Given the description of an element on the screen output the (x, y) to click on. 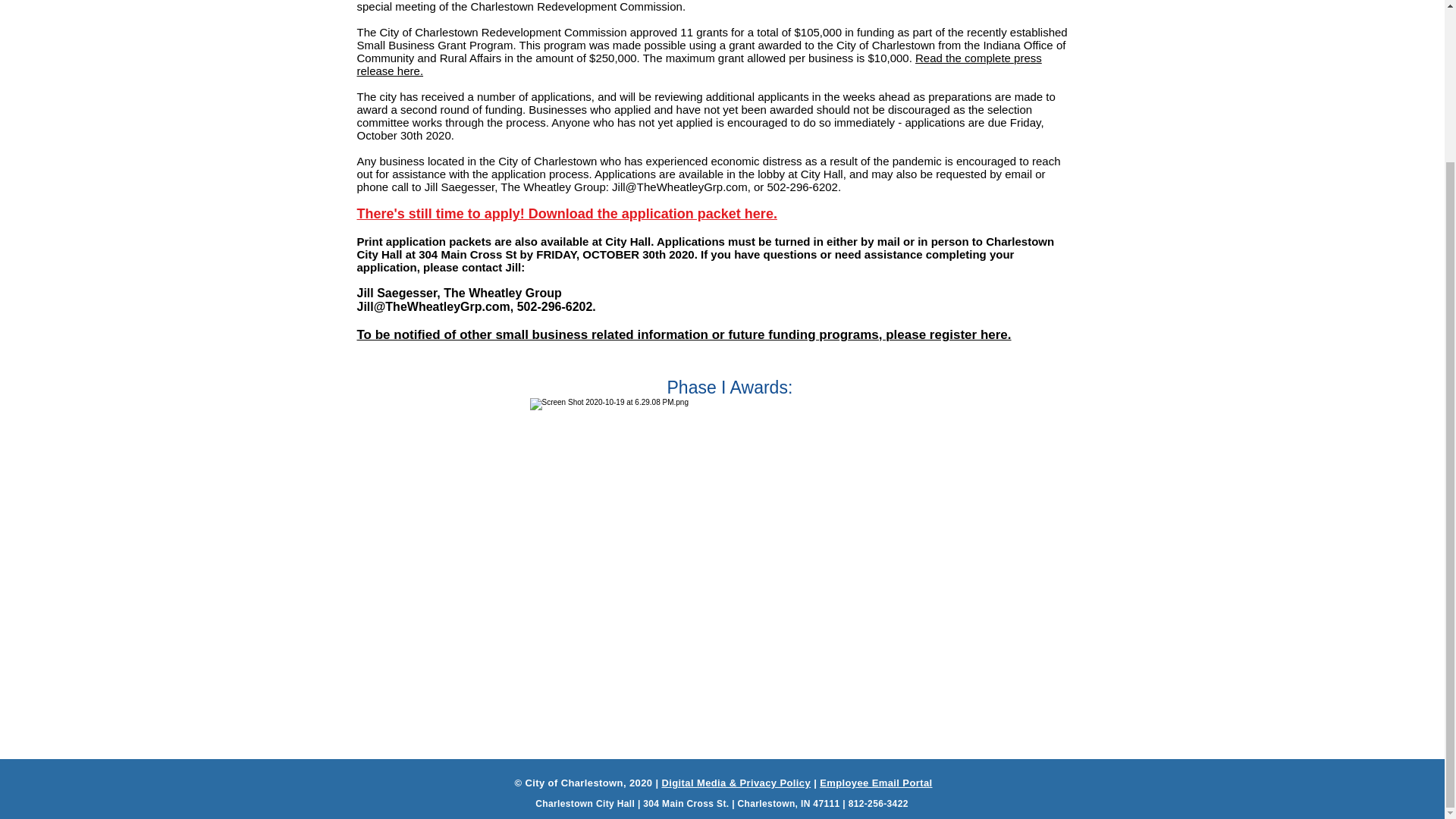
Employee Email Portal (875, 782)
Read the complete press release here. (698, 63)
